Given the description of an element on the screen output the (x, y) to click on. 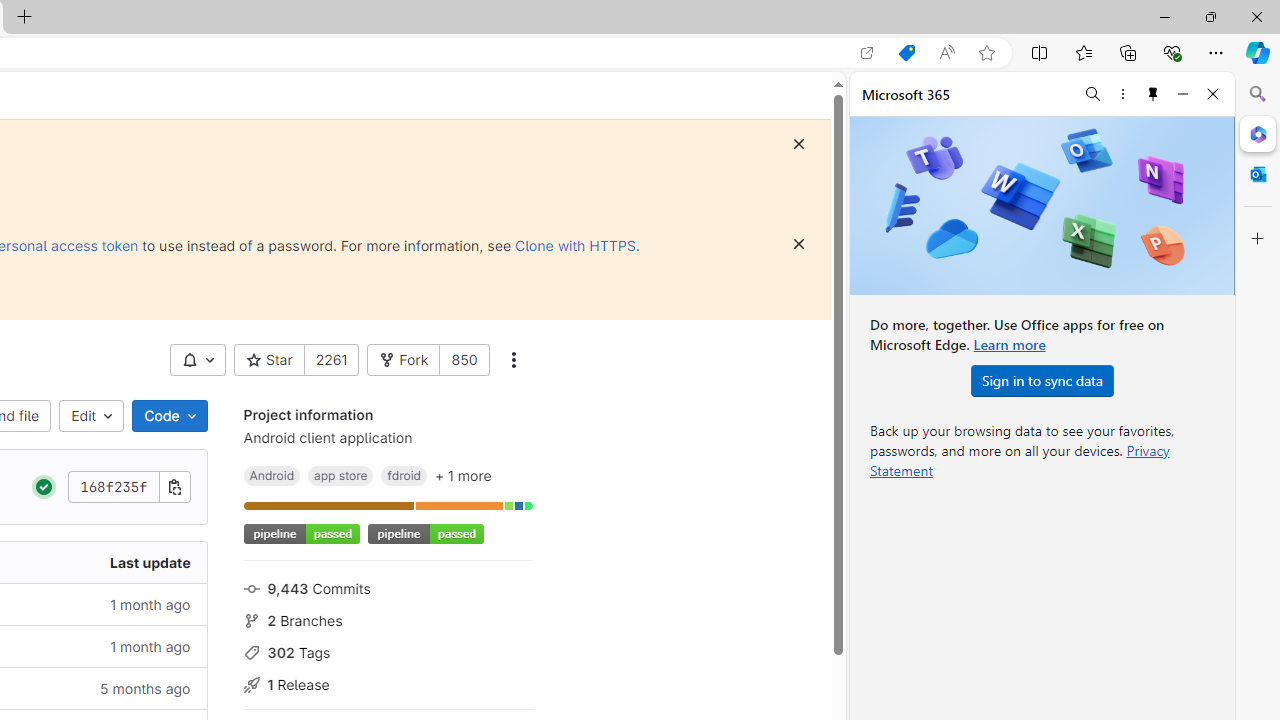
Android (271, 475)
Dismiss (799, 243)
 Star (269, 359)
2261 (331, 359)
2 Branches (387, 619)
Class: s16 gl-icon gl-button-icon  (798, 243)
1 Release (387, 682)
+ 1 more (463, 475)
Shopping in Microsoft Edge (906, 53)
app store (340, 475)
1 Release (387, 682)
fdroid (404, 475)
